Given the description of an element on the screen output the (x, y) to click on. 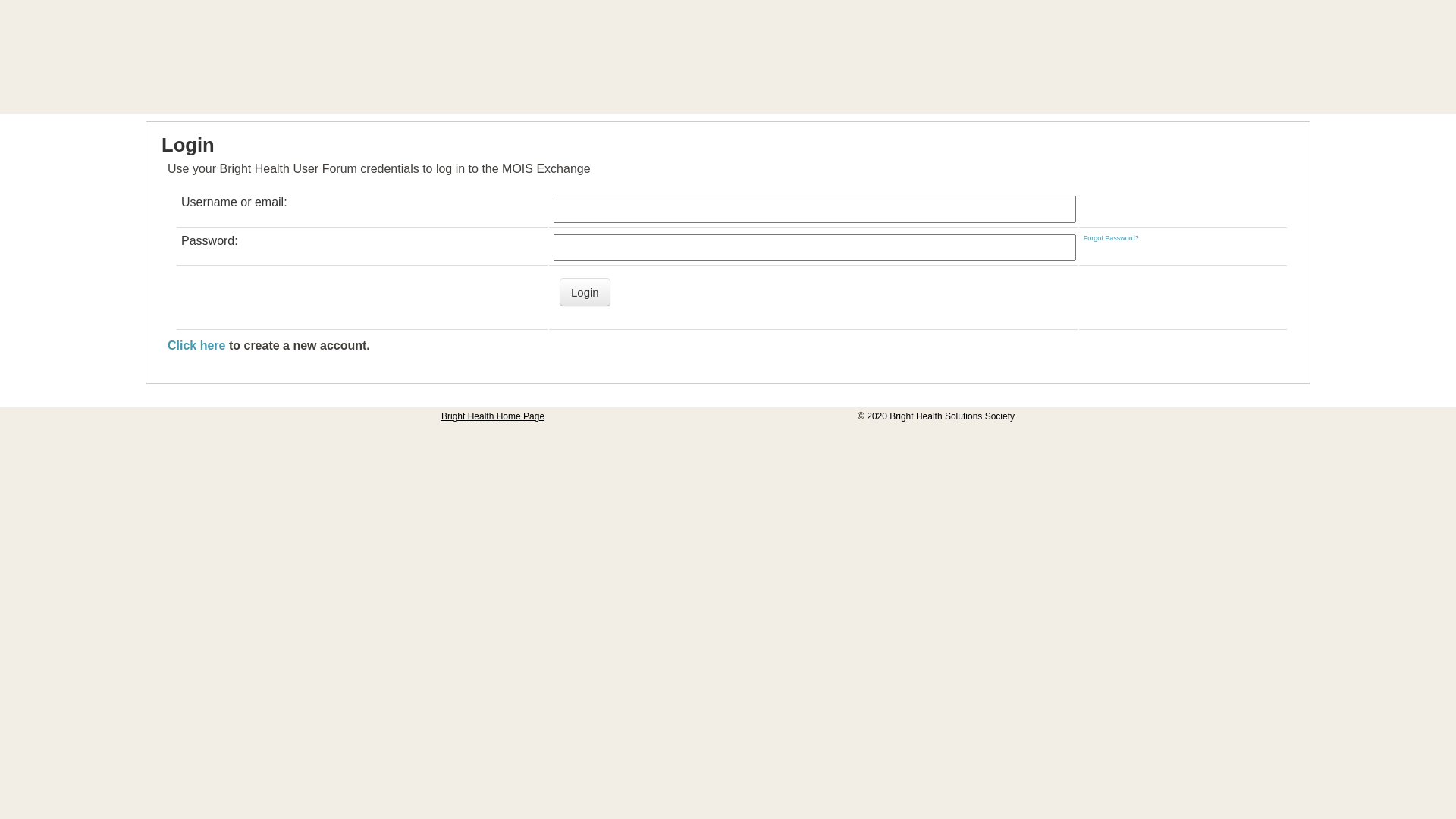
Login Element type: text (584, 292)
Bright Health Home Page Element type: text (492, 416)
Click here Element type: text (196, 344)
Forgot Password? Element type: text (1111, 237)
